Given the description of an element on the screen output the (x, y) to click on. 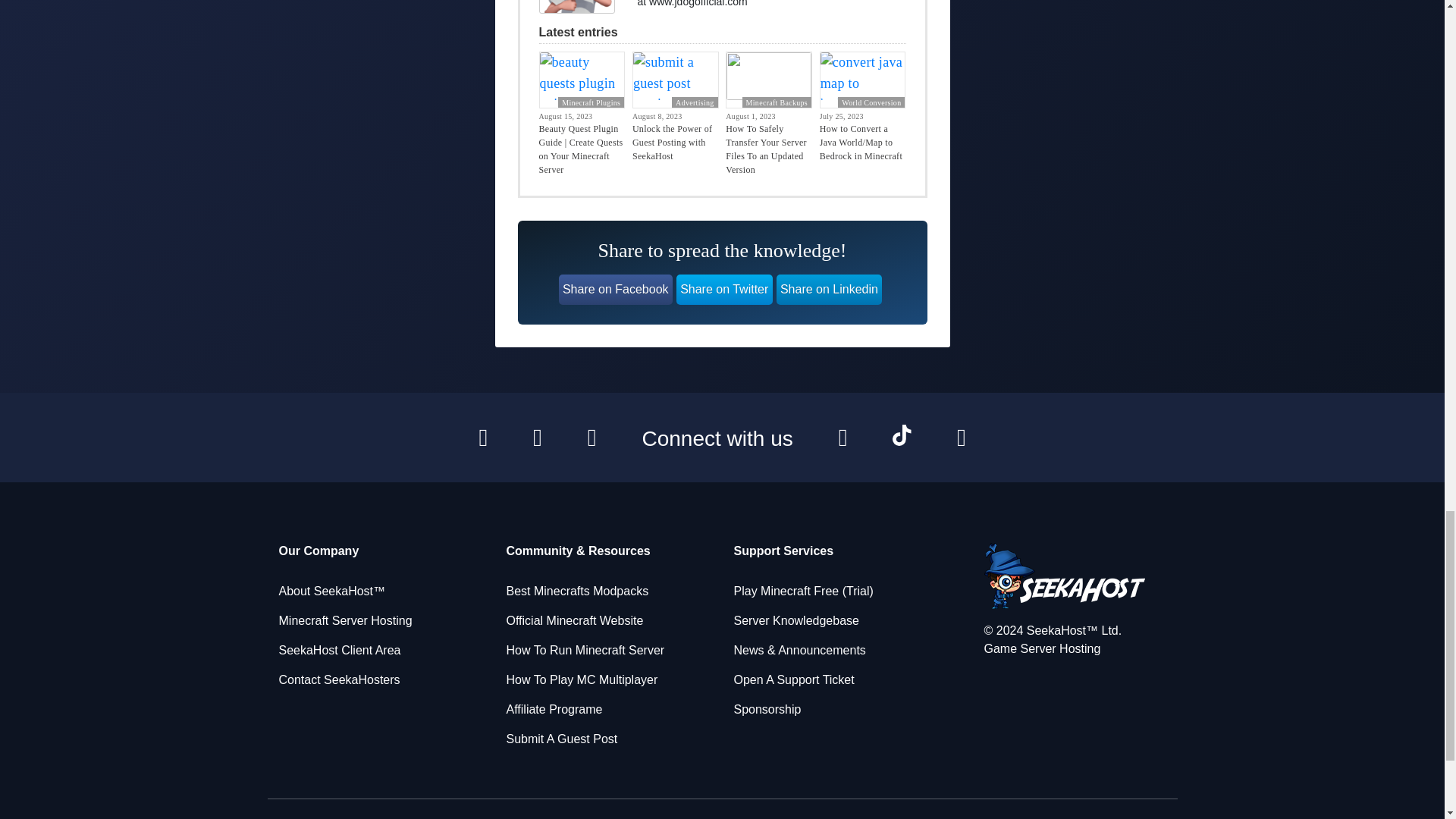
Share on Twitter (725, 289)
Advertising (694, 102)
Unlock the Power of Guest Posting with SeekaHost (675, 142)
Minecraft Plugins (590, 102)
Share on Linkedin (829, 289)
World Conversion (871, 102)
Share on Facebook (615, 289)
Minecraft Backups (776, 102)
